Given the description of an element on the screen output the (x, y) to click on. 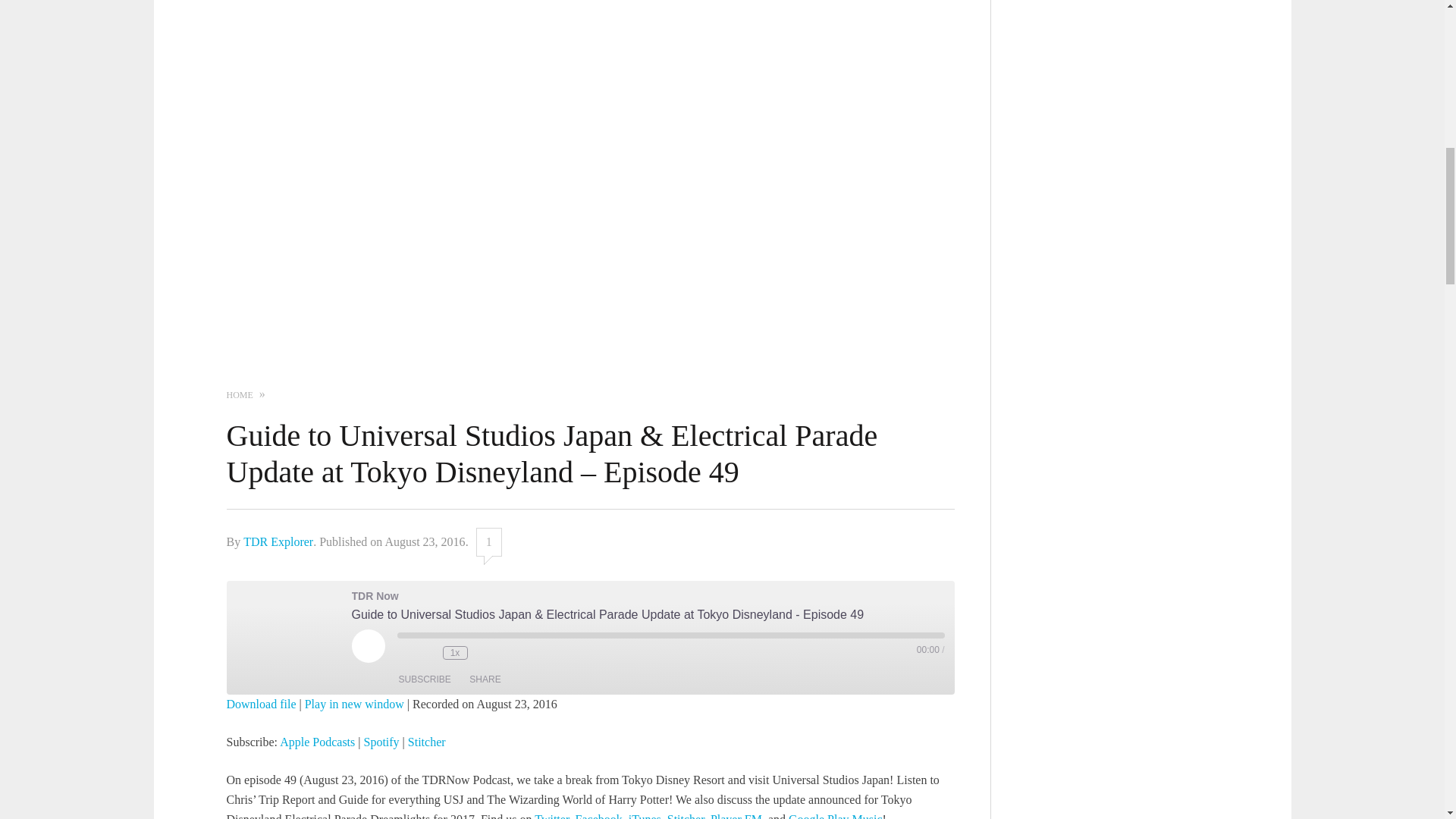
Download file (260, 703)
Rewind 10 Seconds (427, 652)
Fast Forward 30 seconds (481, 652)
Playback Speed (454, 653)
Seek (670, 635)
Play Episode (368, 645)
Posts by TDR Explorer (278, 541)
SHARE (484, 679)
Play (368, 645)
Rewind 10 seconds (427, 652)
Apple Podcasts (317, 741)
HOME (238, 394)
TDR Explorer (278, 541)
SUBSCRIBE (424, 679)
1 (489, 541)
